Given the description of an element on the screen output the (x, y) to click on. 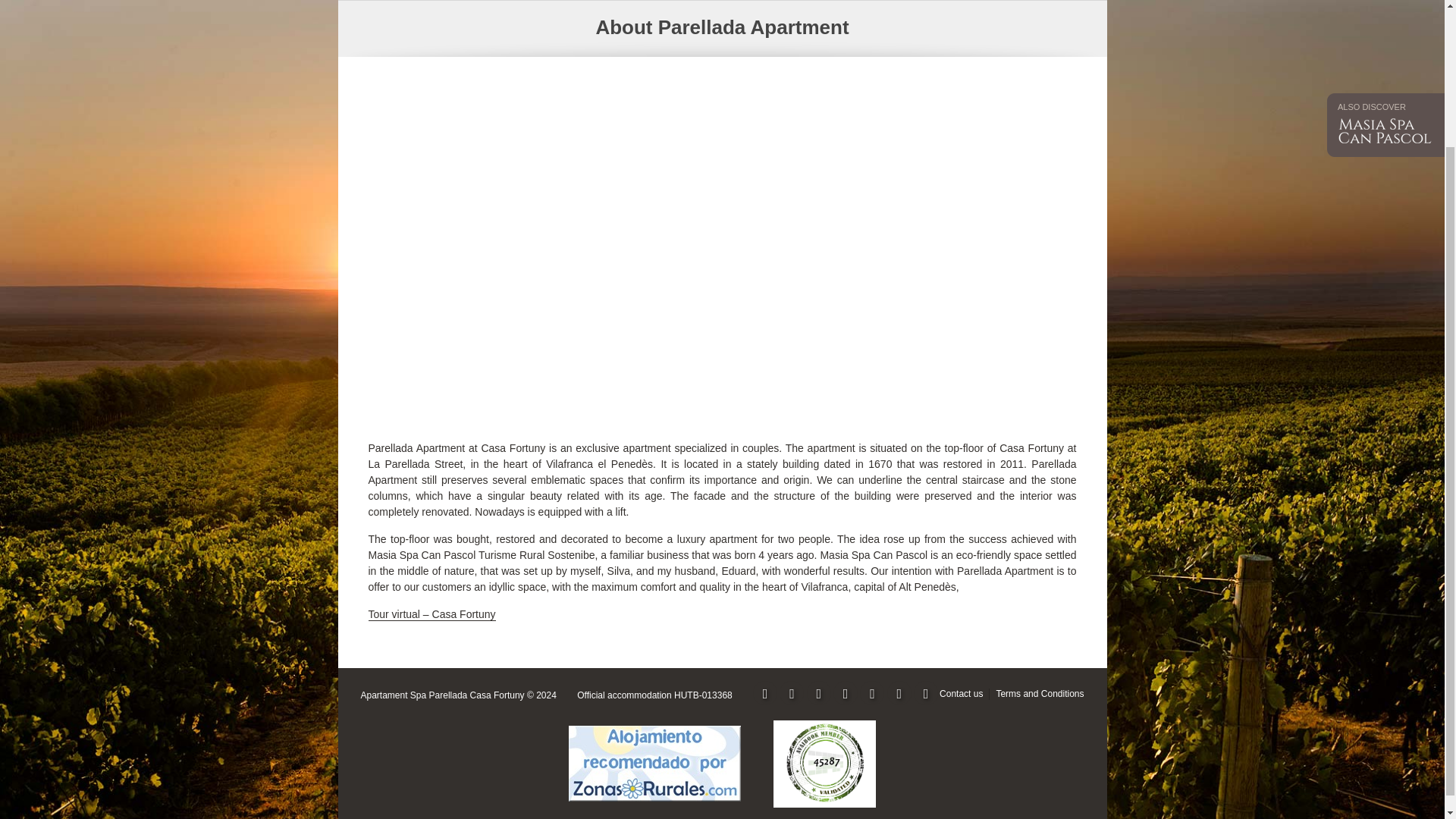
Terms and Conditions (1039, 693)
Apartament Spa Parellada Casa Fortuny (442, 695)
casas rurales (654, 763)
avaibook (824, 763)
Contact us (960, 693)
Apartament Spa Parellada Casa Fortuny (442, 695)
